Given the description of an element on the screen output the (x, y) to click on. 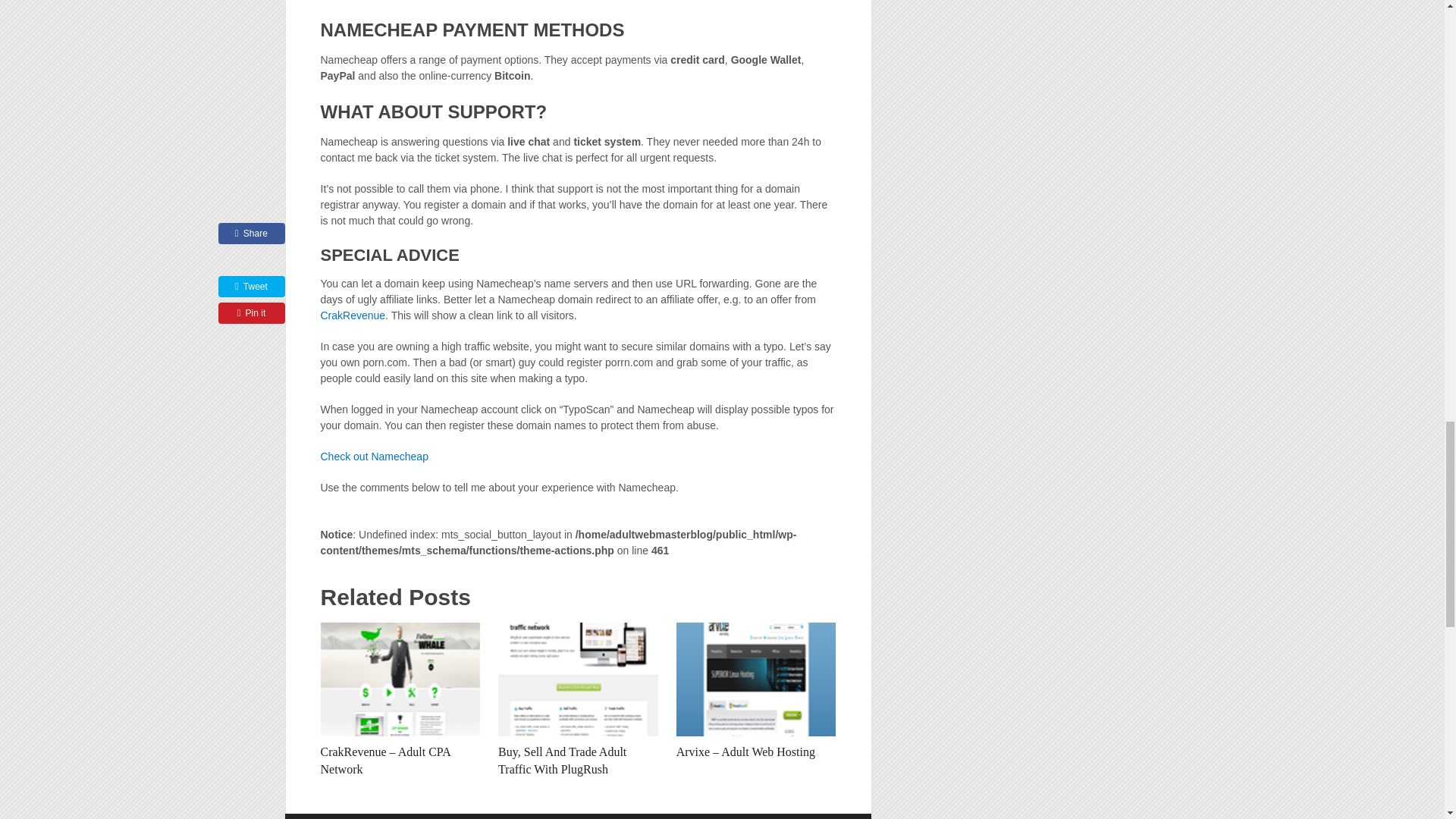
Buy, Sell And Trade Adult Traffic With PlugRush (561, 759)
Buy, Sell And Trade Adult Traffic With PlugRush (577, 679)
CrakRevenue (352, 315)
CrakRevenue (352, 315)
Check out Namecheap (374, 456)
Check out Namecheap (374, 456)
Buy, Sell And Trade Adult Traffic With PlugRush (561, 759)
